Given the description of an element on the screen output the (x, y) to click on. 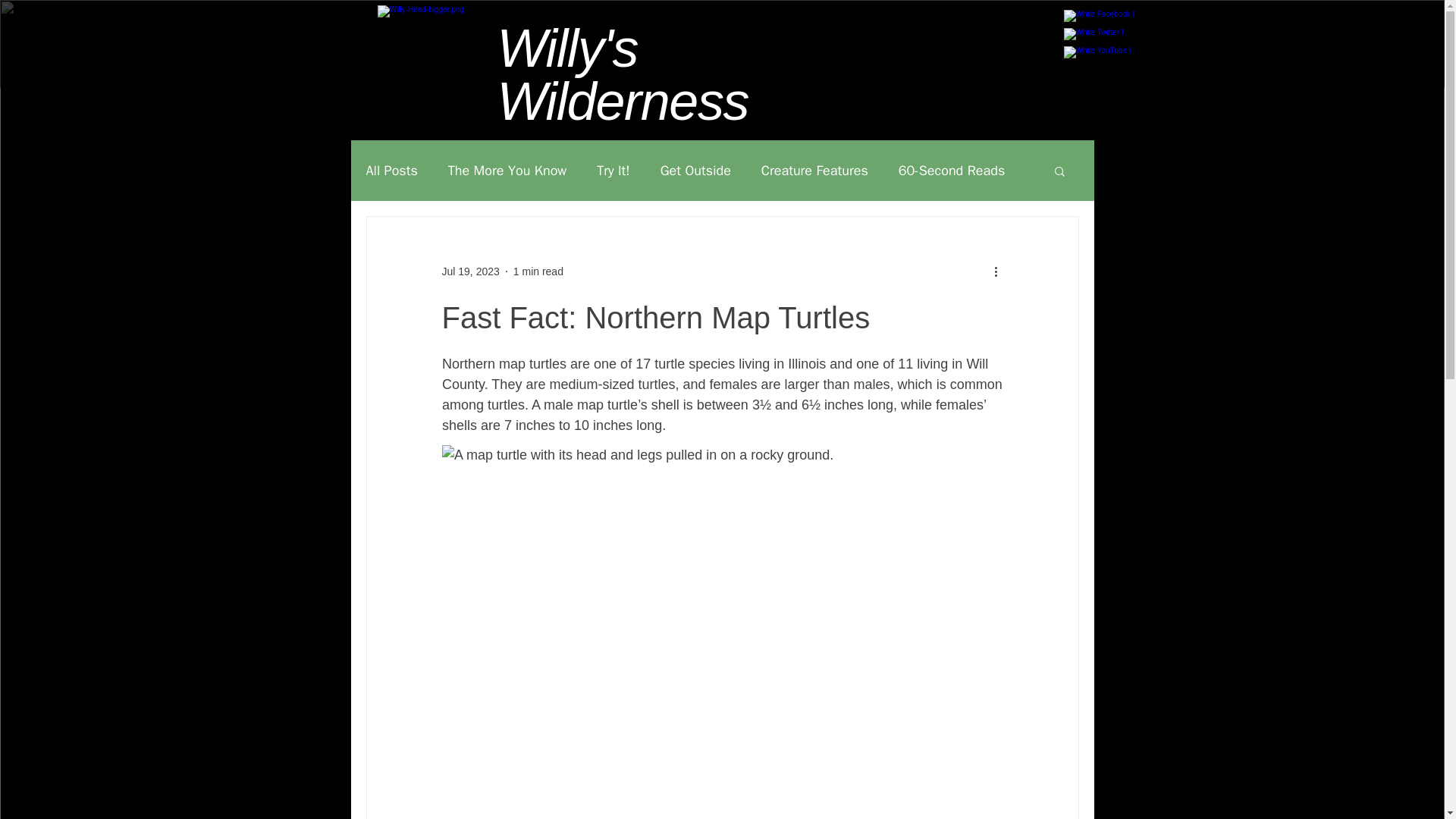
All Posts (390, 170)
60-Second Reads (952, 170)
1 min read (538, 271)
Creature Features (814, 170)
Willy's Wilderness (623, 74)
The More You Know (507, 170)
Get Outside (695, 170)
Jul 19, 2023 (470, 271)
Try It! (613, 170)
